Given the description of an element on the screen output the (x, y) to click on. 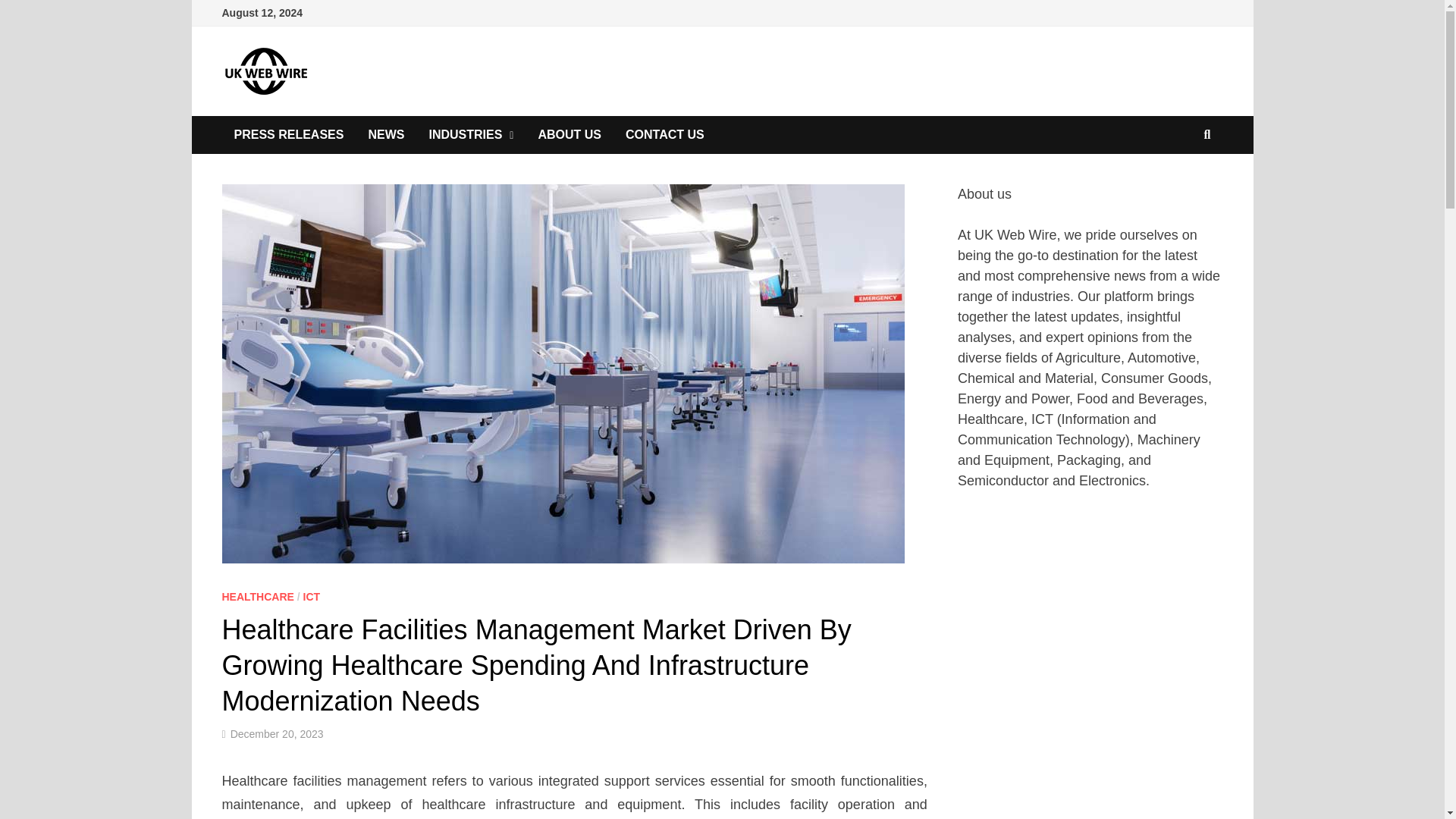
ICT (311, 596)
INDUSTRIES (470, 134)
PRESS RELEASES (288, 134)
CONTACT US (664, 134)
NEWS (385, 134)
ABOUT US (568, 134)
HEALTHCARE (257, 596)
